Given the description of an element on the screen output the (x, y) to click on. 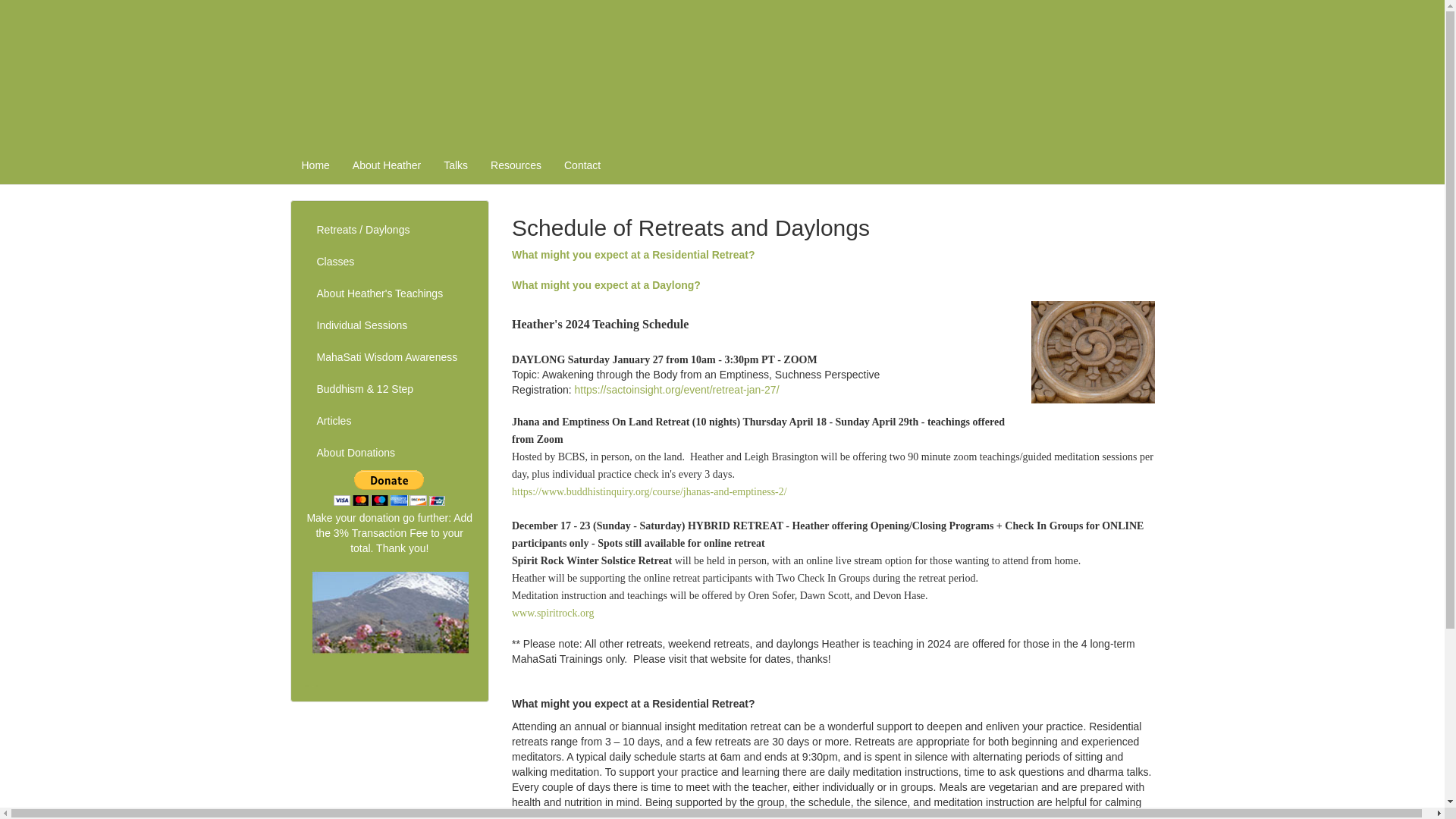
What might you expect at a Daylong? (606, 285)
What might you expect at a Residential Retreat? (633, 254)
PayPal - The safer, easier way to pay online! (389, 488)
MahaSati Wisdom Awareness (389, 358)
Talks (455, 165)
Individual Sessions (389, 326)
About Heather's Teachings (389, 294)
Home (314, 165)
About Donations (389, 453)
Articles (389, 421)
About Heather (386, 165)
Classes (389, 262)
Contact (582, 165)
www.spiritrock.org (553, 613)
Resources (516, 165)
